Given the description of an element on the screen output the (x, y) to click on. 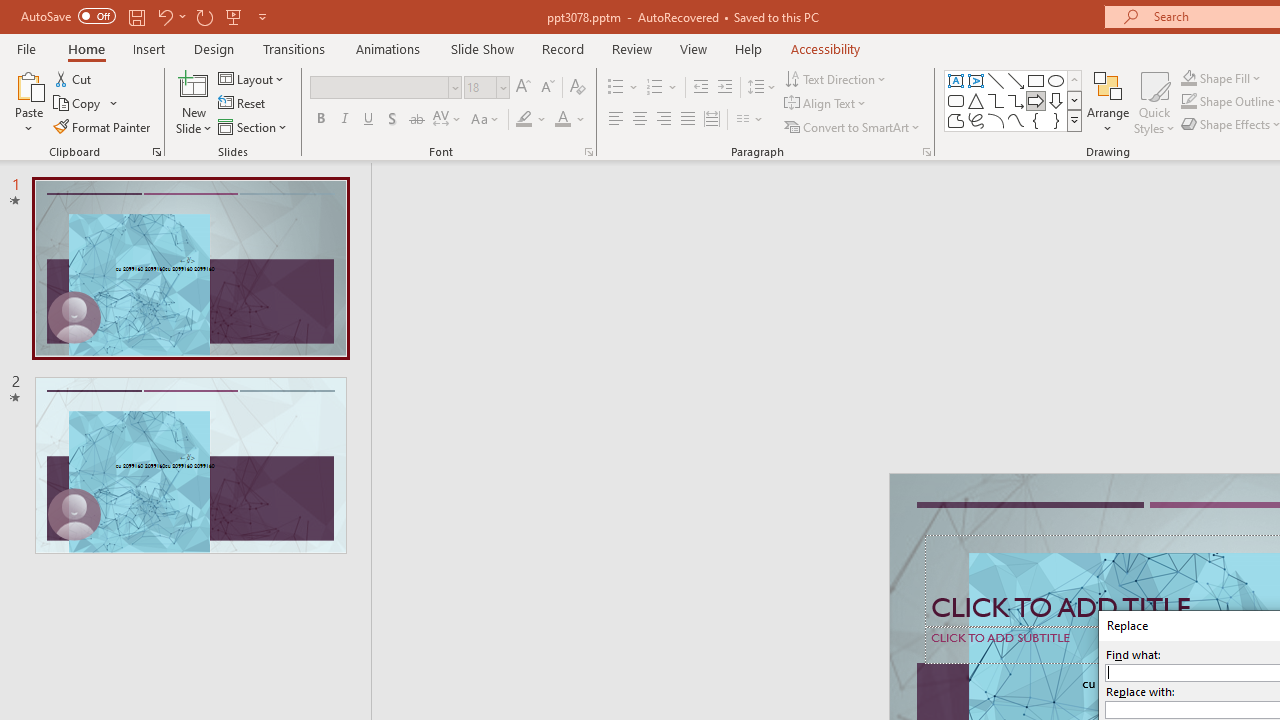
Arrow: Right (1035, 100)
Italic (344, 119)
Text Direction (836, 78)
Convert to SmartArt (853, 126)
Decrease Indent (700, 87)
Quick Styles (1154, 102)
Justify (687, 119)
Columns (750, 119)
Shadow (392, 119)
Strikethrough (416, 119)
